Given the description of an element on the screen output the (x, y) to click on. 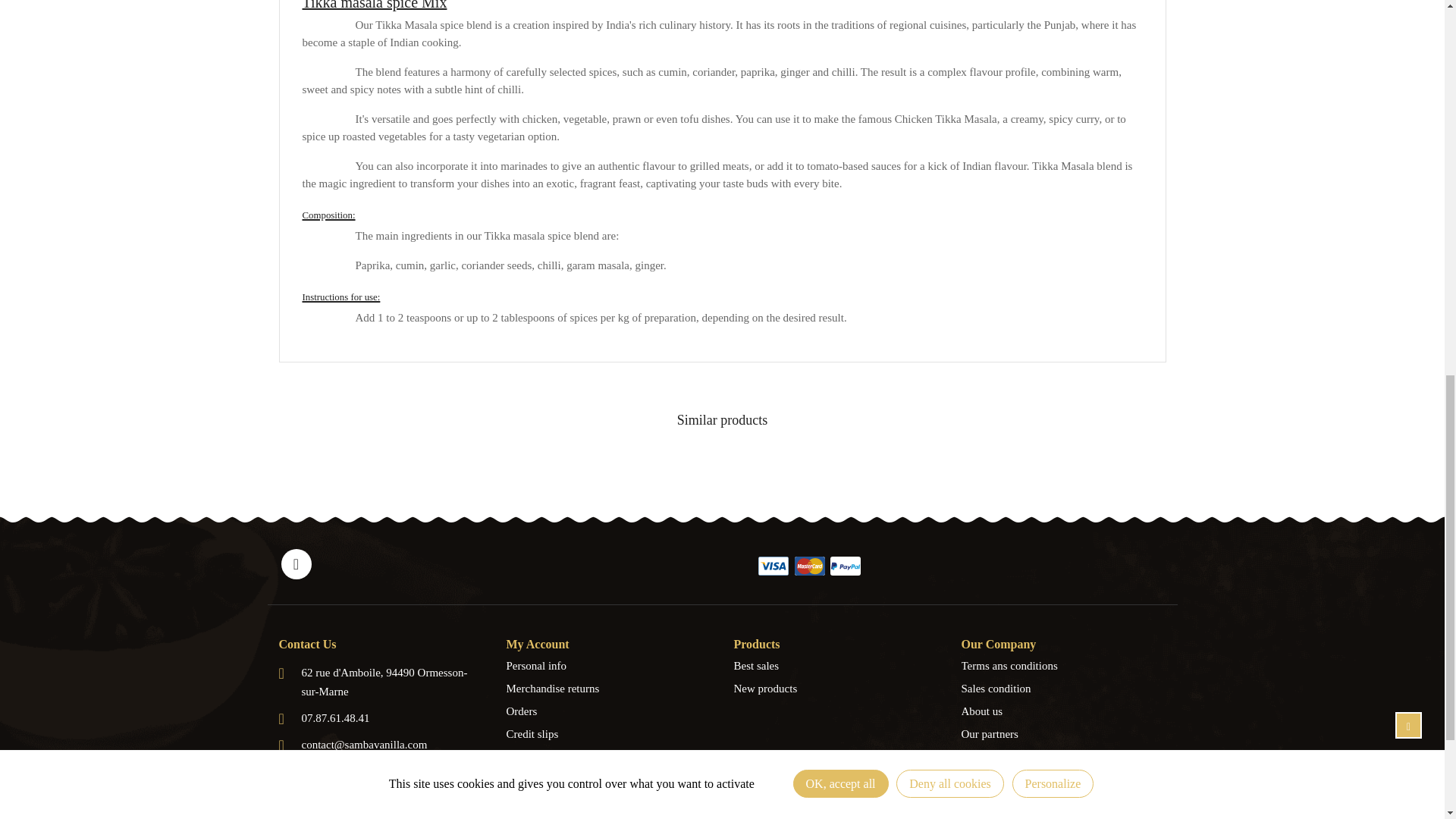
Orders (608, 711)
Vouchers (608, 779)
Credit slips (608, 733)
Facebook (296, 563)
Personal info (608, 665)
Our best sales (836, 665)
Merchandise returns (608, 688)
Addresses (608, 756)
